Given the description of an element on the screen output the (x, y) to click on. 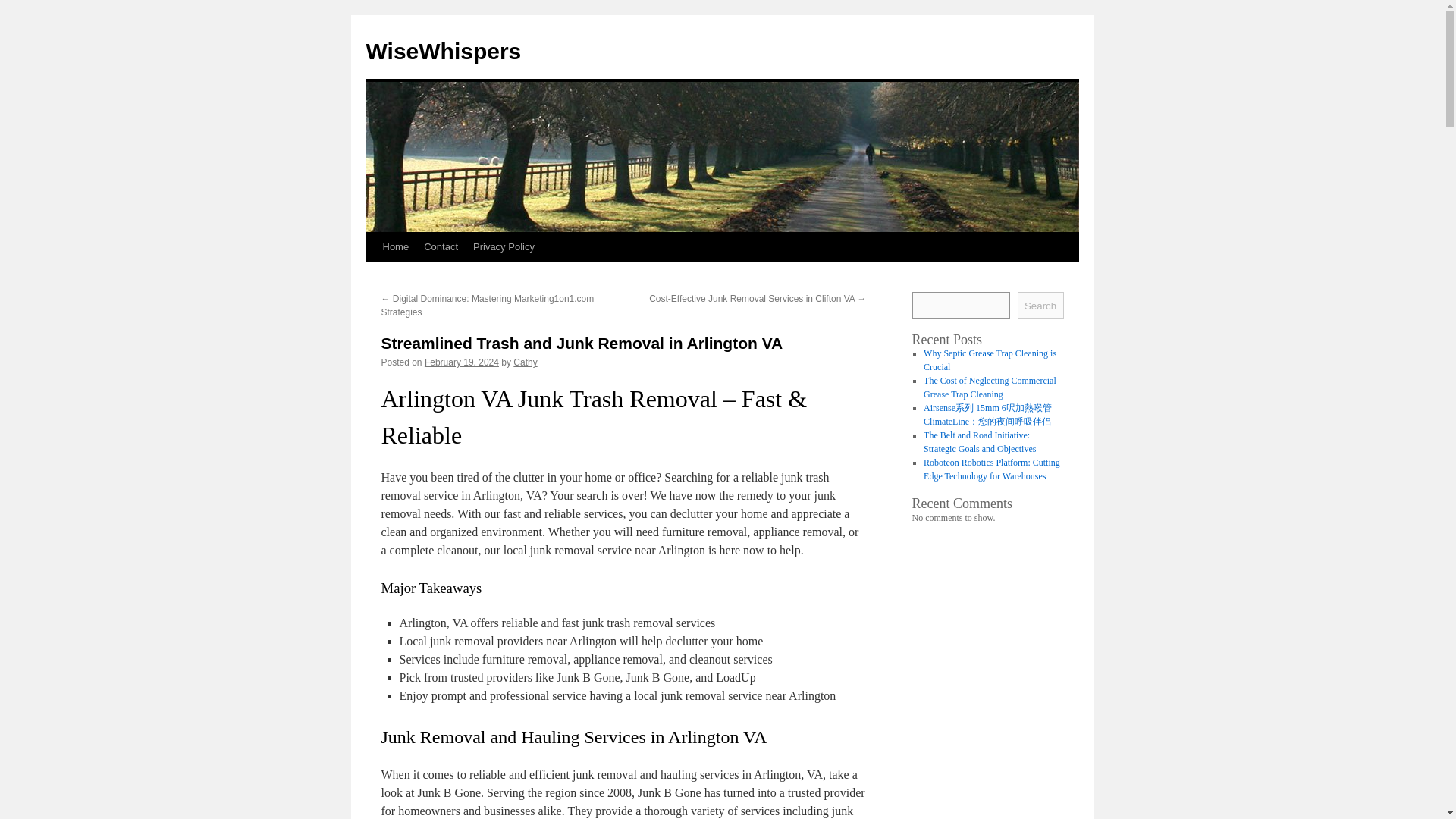
Why Septic Grease Trap Cleaning is Crucial (990, 360)
Search (1040, 305)
February 19, 2024 (462, 362)
The Cost of Neglecting Commercial Grease Trap Cleaning (990, 387)
Home (395, 246)
Privacy Policy (503, 246)
View all posts by Cathy (525, 362)
The Belt and Road Initiative: Strategic Goals and Objectives (979, 441)
WiseWhispers (443, 50)
7:27 pm (462, 362)
Cathy (525, 362)
Contact (440, 246)
